Given the description of an element on the screen output the (x, y) to click on. 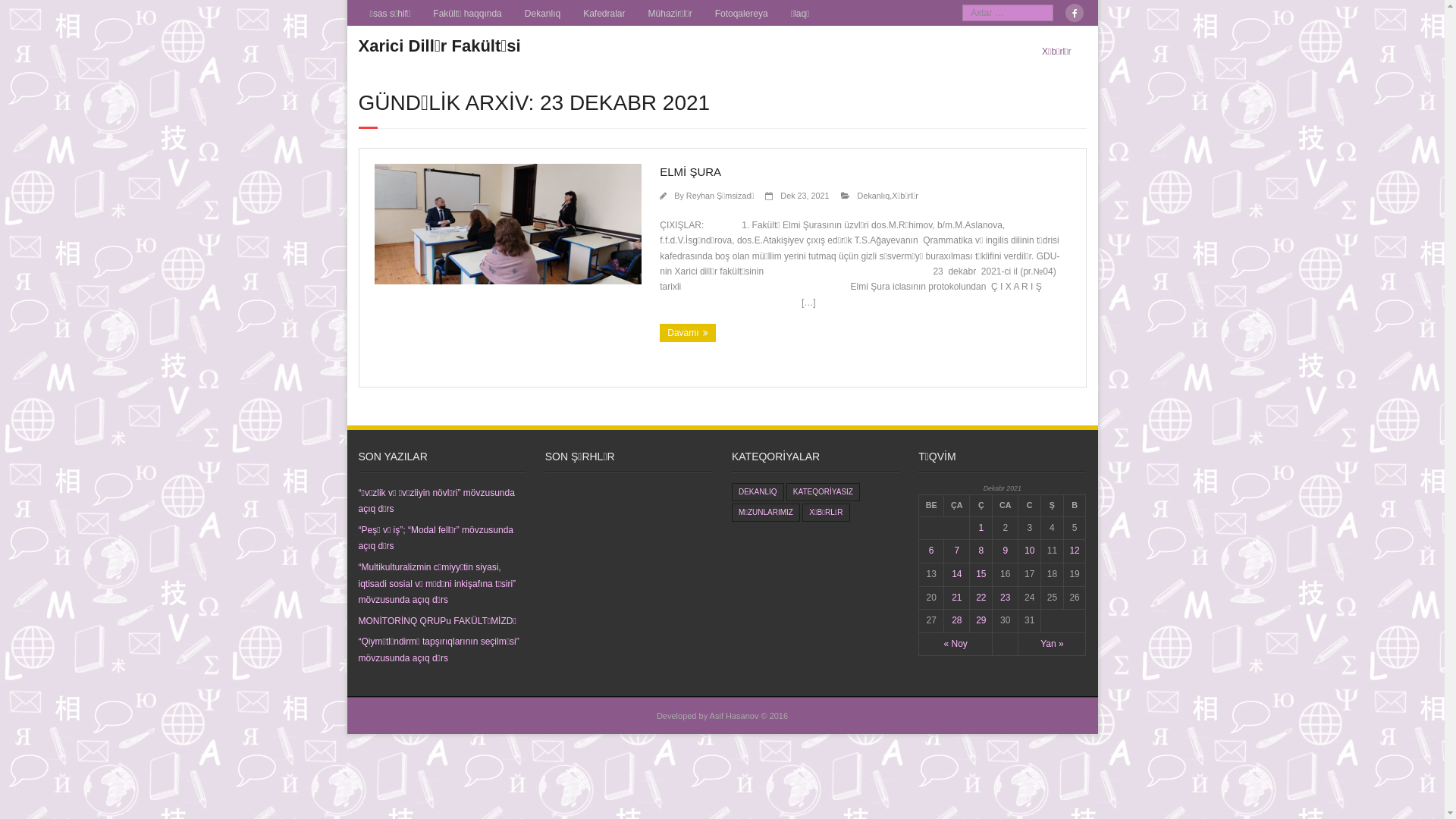
Axtar Element type: text (21, 9)
10 Element type: text (1029, 550)
9 Element type: text (1004, 550)
23 Element type: text (1005, 597)
KATEQORIYASIZ Element type: text (822, 492)
1 Element type: text (980, 527)
DEKANLIQ Element type: text (757, 492)
15 Element type: text (980, 573)
6 Element type: text (931, 550)
8 Element type: text (980, 550)
Fotoqalereya Element type: text (741, 12)
29 Element type: text (980, 620)
28 Element type: text (956, 620)
22 Element type: text (980, 597)
Kafedralar Element type: text (603, 12)
Dek 23, 2021 Element type: text (804, 195)
12 Element type: text (1074, 550)
7 Element type: text (956, 550)
14 Element type: text (956, 573)
21 Element type: text (956, 597)
